Given the description of an element on the screen output the (x, y) to click on. 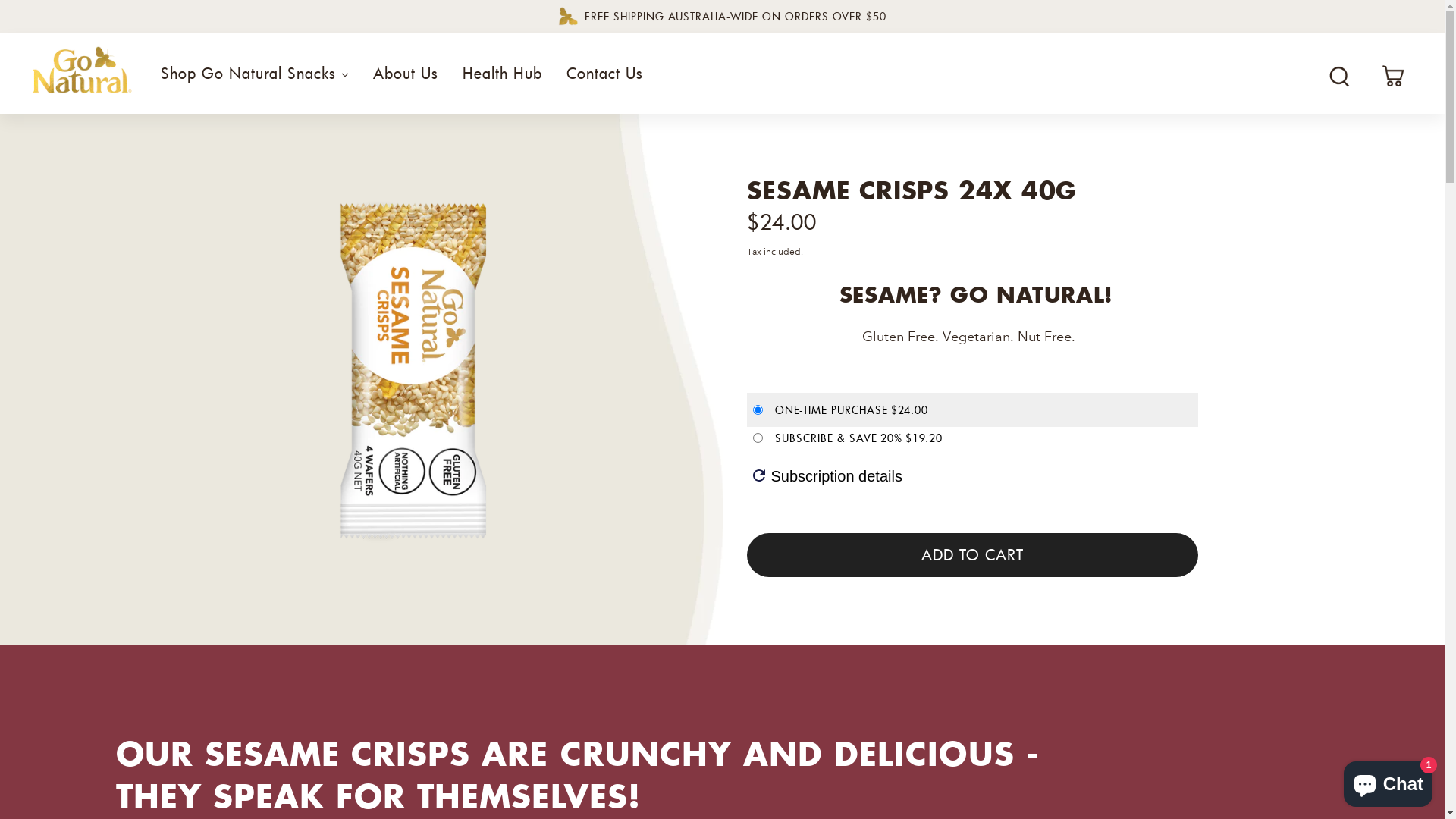
  Element type: text (1394, 76)
Shopify online store chat Element type: hover (1388, 780)
Health Hub Element type: text (502, 83)
Contact Us Element type: text (604, 83)
Go Natural Australia Element type: hover (82, 72)
ADD TO CART Element type: text (971, 555)
About Us Element type: text (405, 83)
Subscription details Element type: text (826, 476)
Shop Go Natural Snacks Element type: text (254, 83)
